Given the description of an element on the screen output the (x, y) to click on. 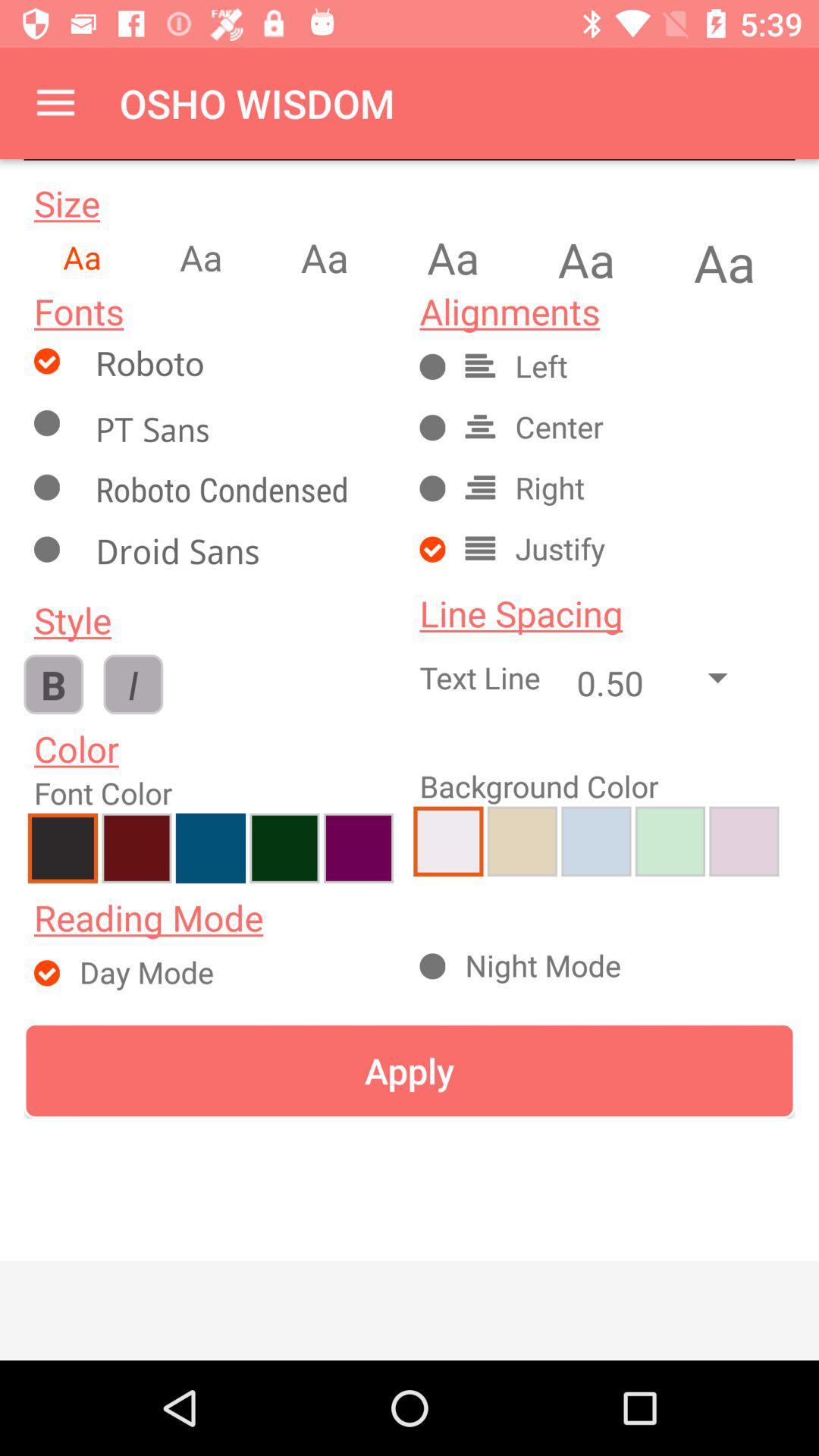
select item next to the osho wisdom app (55, 103)
